Given the description of an element on the screen output the (x, y) to click on. 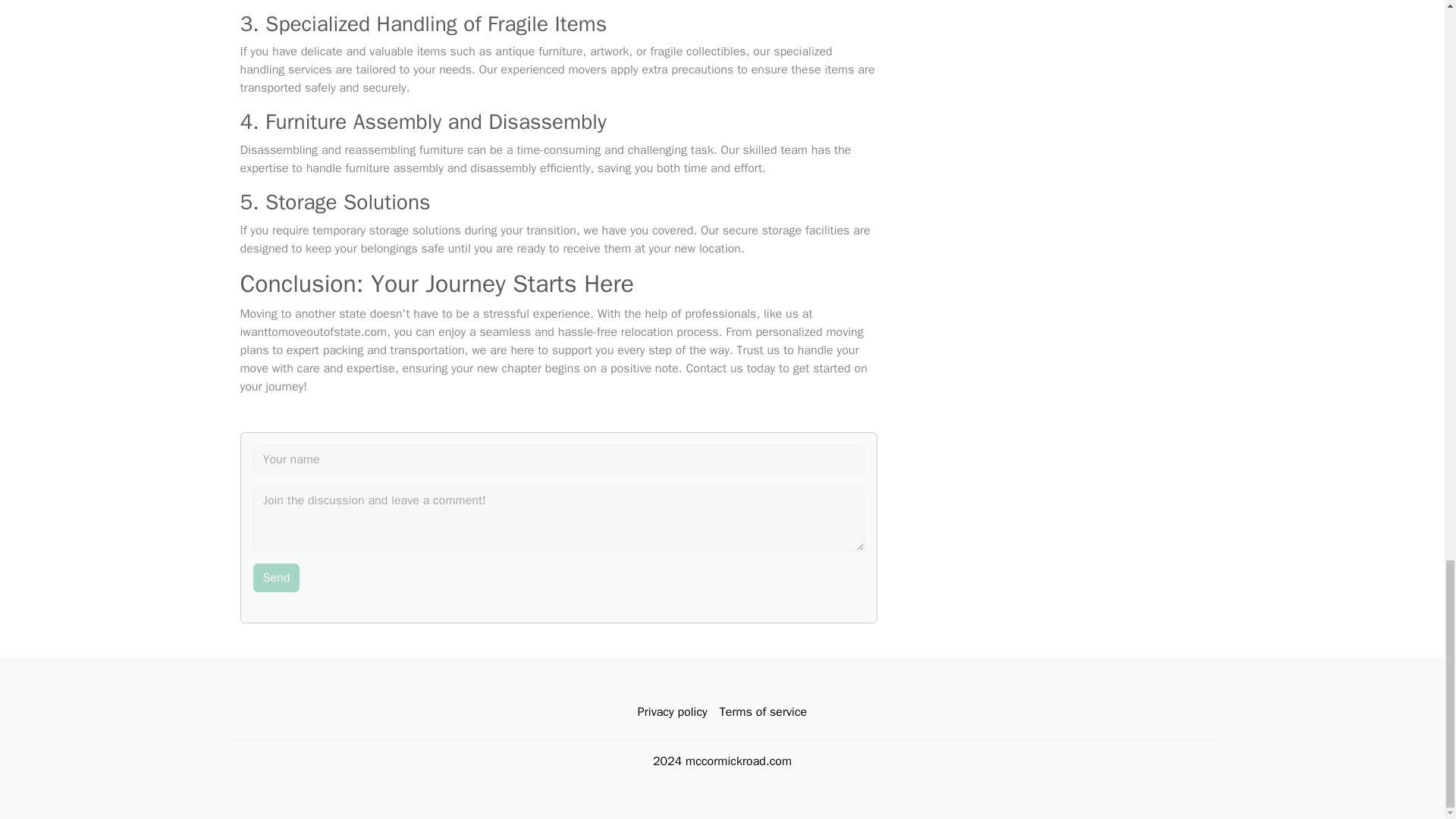
Terms of service (762, 711)
Send (276, 577)
Send (276, 577)
Privacy policy (672, 711)
